Given the description of an element on the screen output the (x, y) to click on. 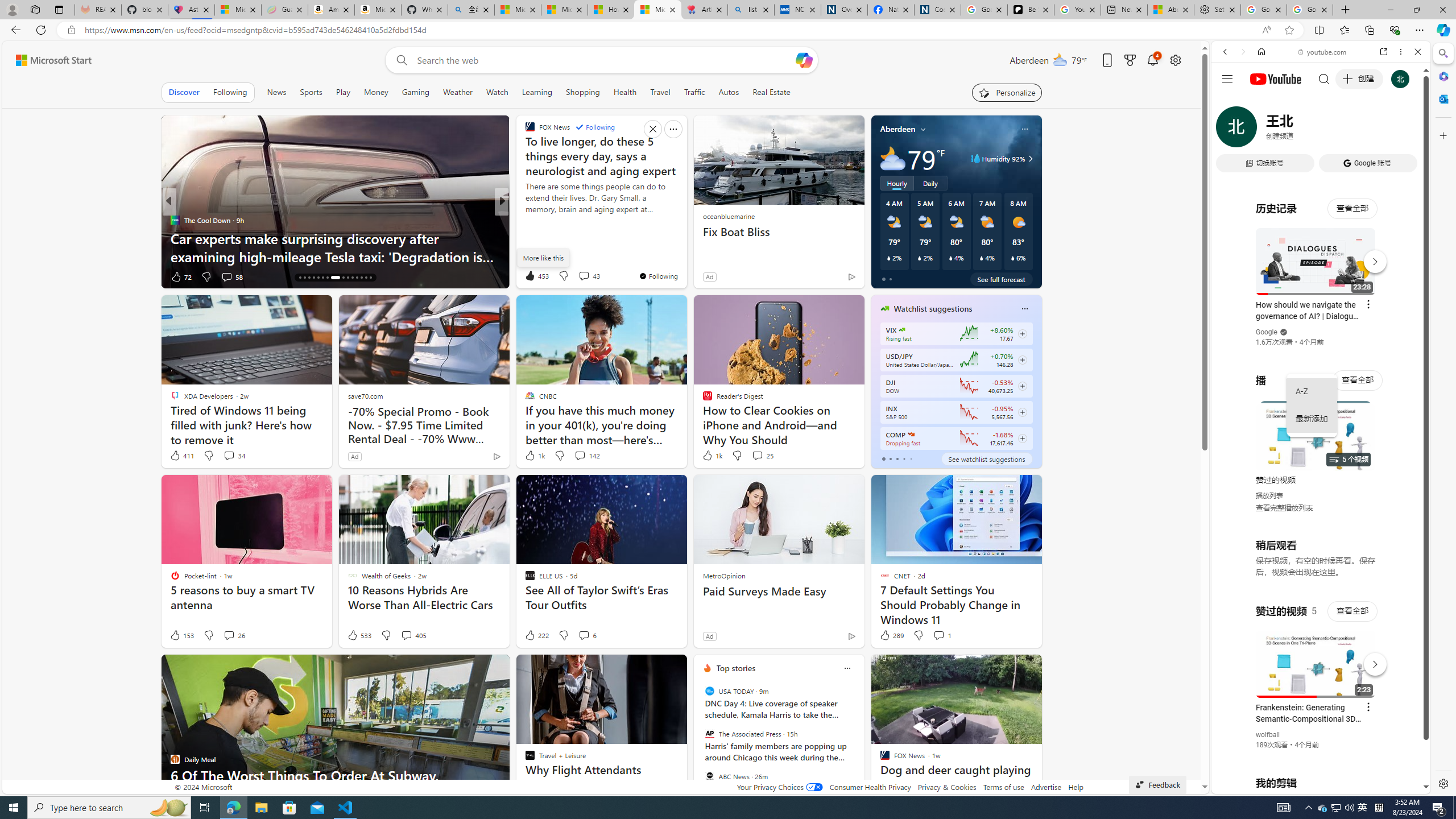
View comments 43 Comment (583, 275)
View comments 25 Comment (756, 455)
You're following FOX News (657, 275)
tab-0 (882, 458)
Class: dict_pnIcon rms_img (1312, 784)
youtube.com (1322, 51)
A-Z (1311, 391)
tab-4 (910, 458)
